Given the description of an element on the screen output the (x, y) to click on. 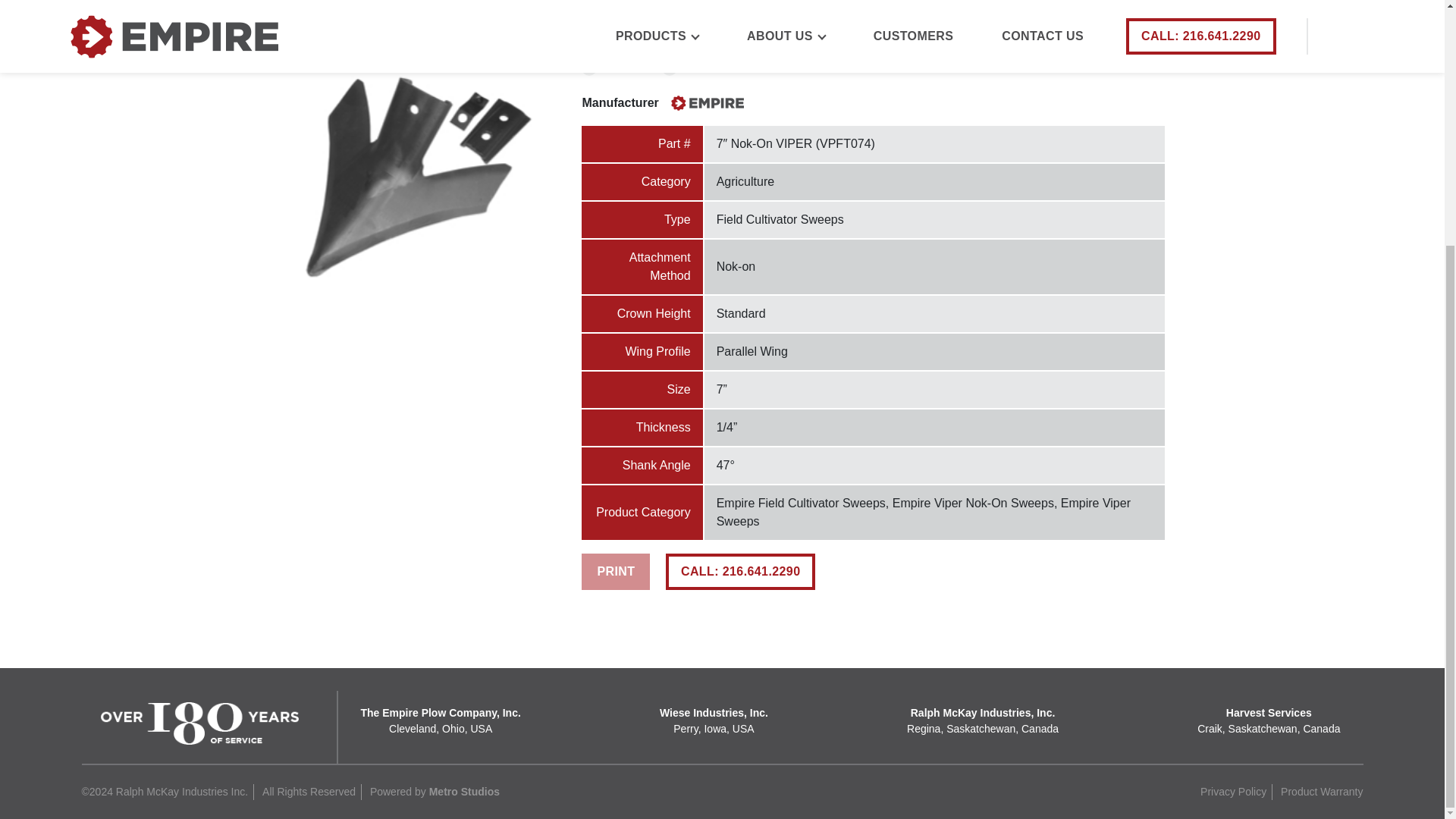
customary (588, 68)
metric (669, 68)
